Given the description of an element on the screen output the (x, y) to click on. 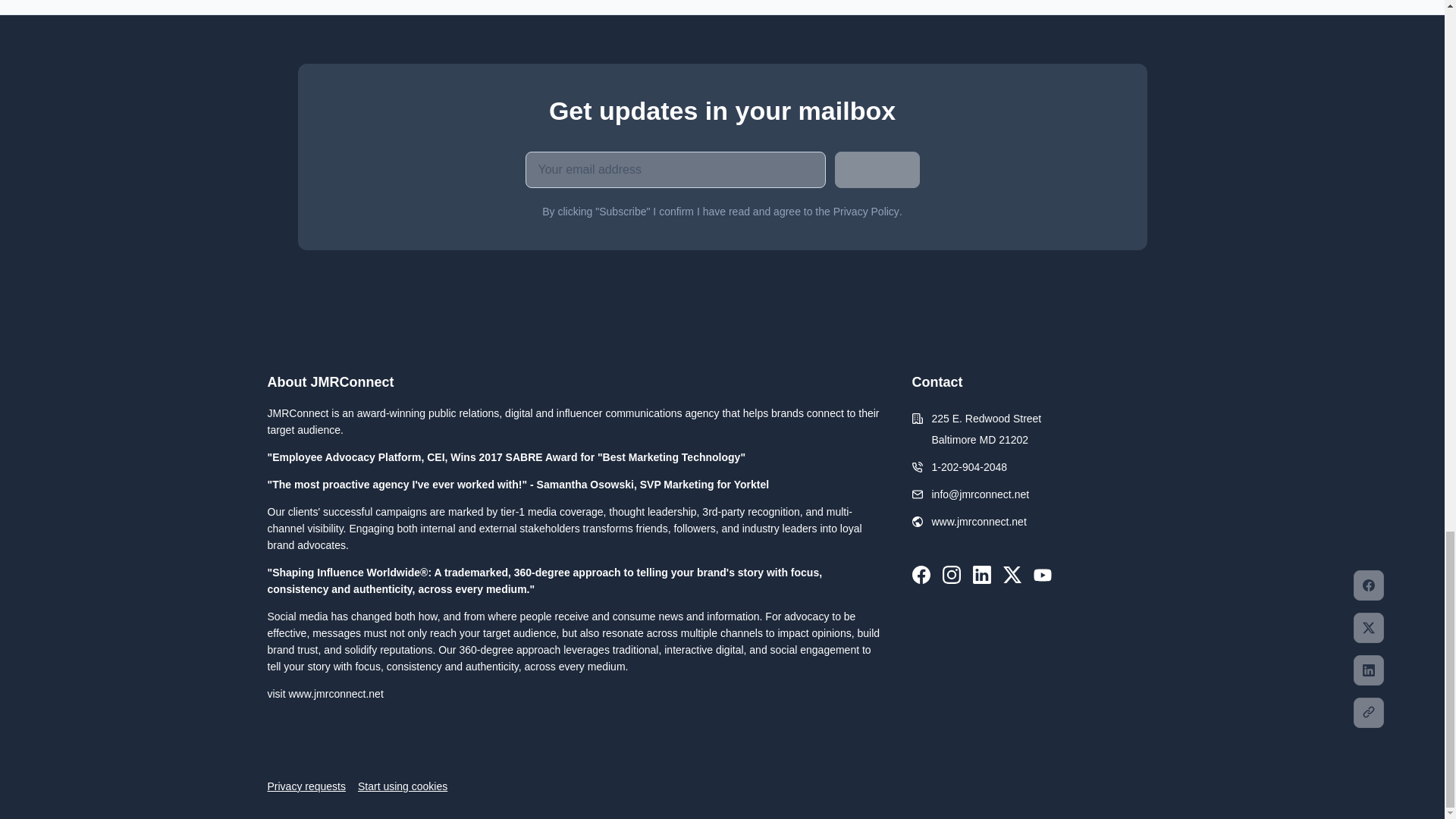
Privacy Policy (865, 211)
JMRConnect (297, 413)
www.jmrconnect.net (335, 693)
Subscribe (876, 169)
www.jmrconnect.net (978, 521)
Best Marketing Technology (671, 457)
CEI (435, 457)
1-202-904-2048 (969, 467)
Start using cookies (402, 786)
The most proactive agency (340, 484)
Privacy requests (305, 786)
